Given the description of an element on the screen output the (x, y) to click on. 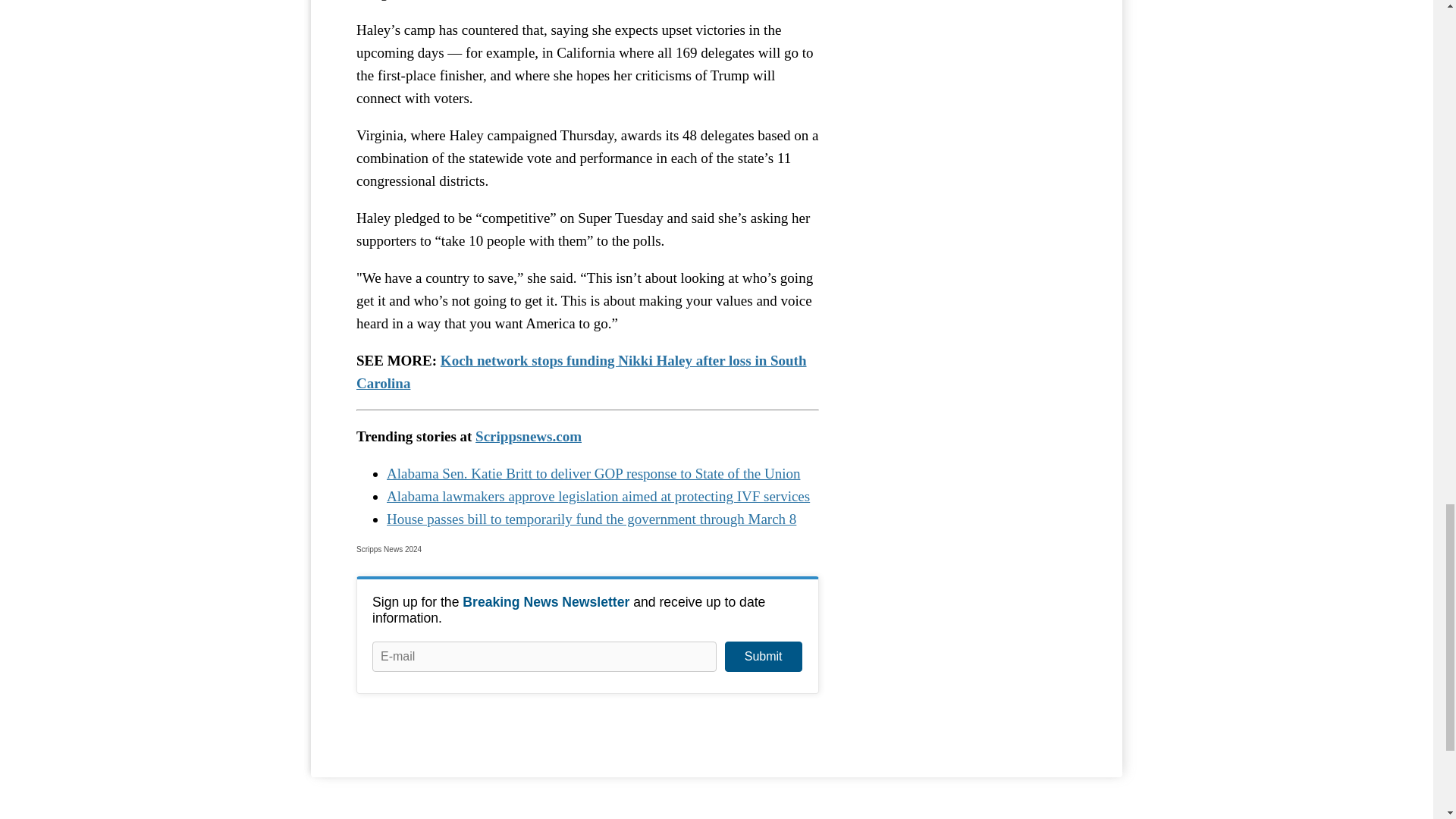
Submit (763, 656)
